Given the description of an element on the screen output the (x, y) to click on. 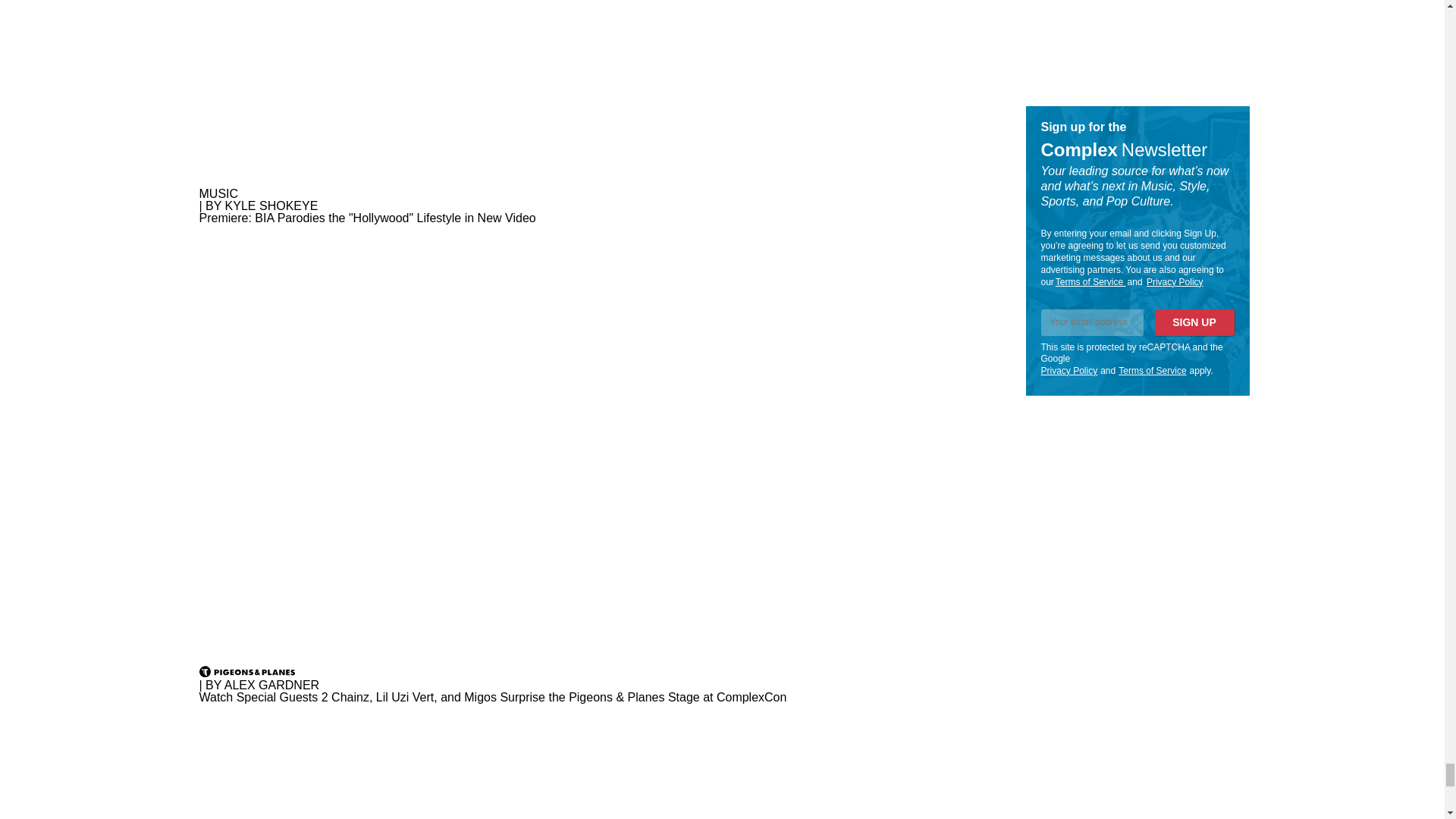
Pigeons and Planes logo (246, 671)
